Given the description of an element on the screen output the (x, y) to click on. 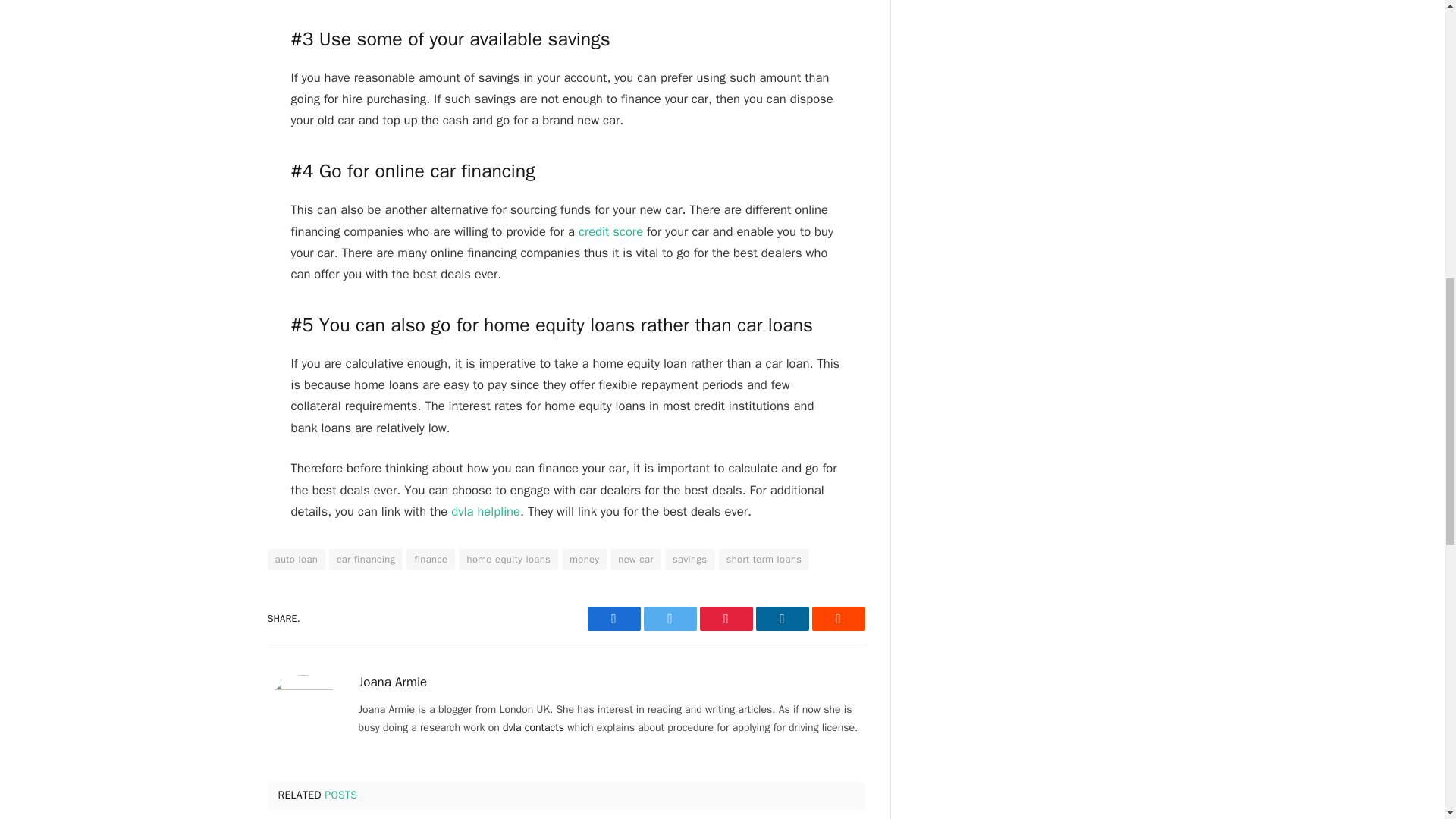
finance (430, 559)
auto loan (295, 559)
Pinterest (725, 618)
new car (635, 559)
Twitter (669, 618)
car financing (366, 559)
Share on LinkedIn (781, 618)
home equity loans (507, 559)
Share on Facebook (613, 618)
LinkedIn (781, 618)
dvla contacts (533, 727)
Reddit (837, 618)
The Importance of Your Credit Rating (610, 230)
Posts by Joana Armie (392, 682)
Share on Reddit (837, 618)
